Given the description of an element on the screen output the (x, y) to click on. 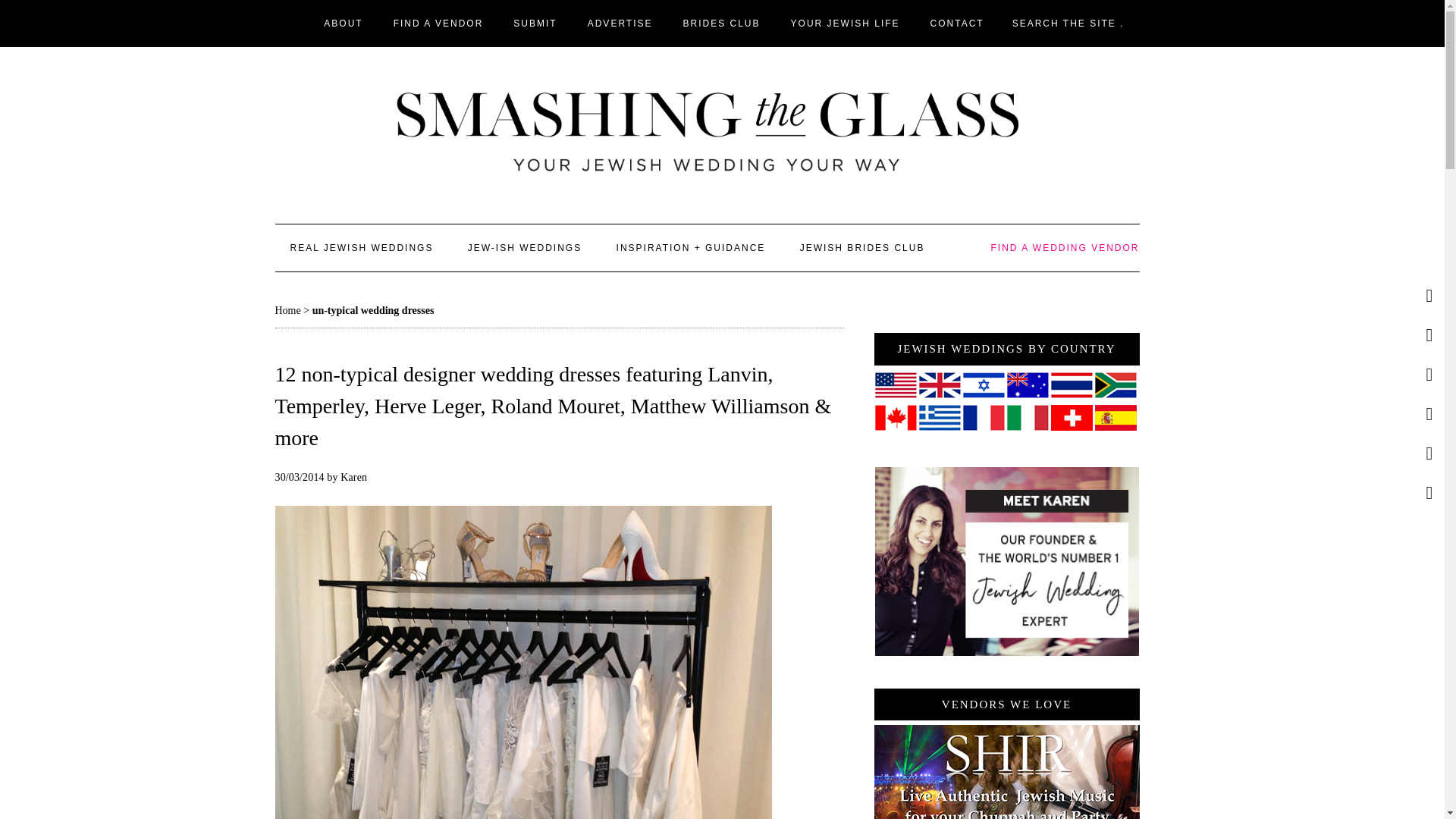
FIND A VENDOR (438, 23)
JEW-ISH WEDDINGS (524, 247)
ABOUT (342, 23)
ADVERTISE (620, 23)
SUBMIT (534, 23)
BRIDES CLUB (722, 23)
REAL JEWISH WEDDINGS (361, 247)
YOUR JEWISH LIFE (845, 23)
